Given the description of an element on the screen output the (x, y) to click on. 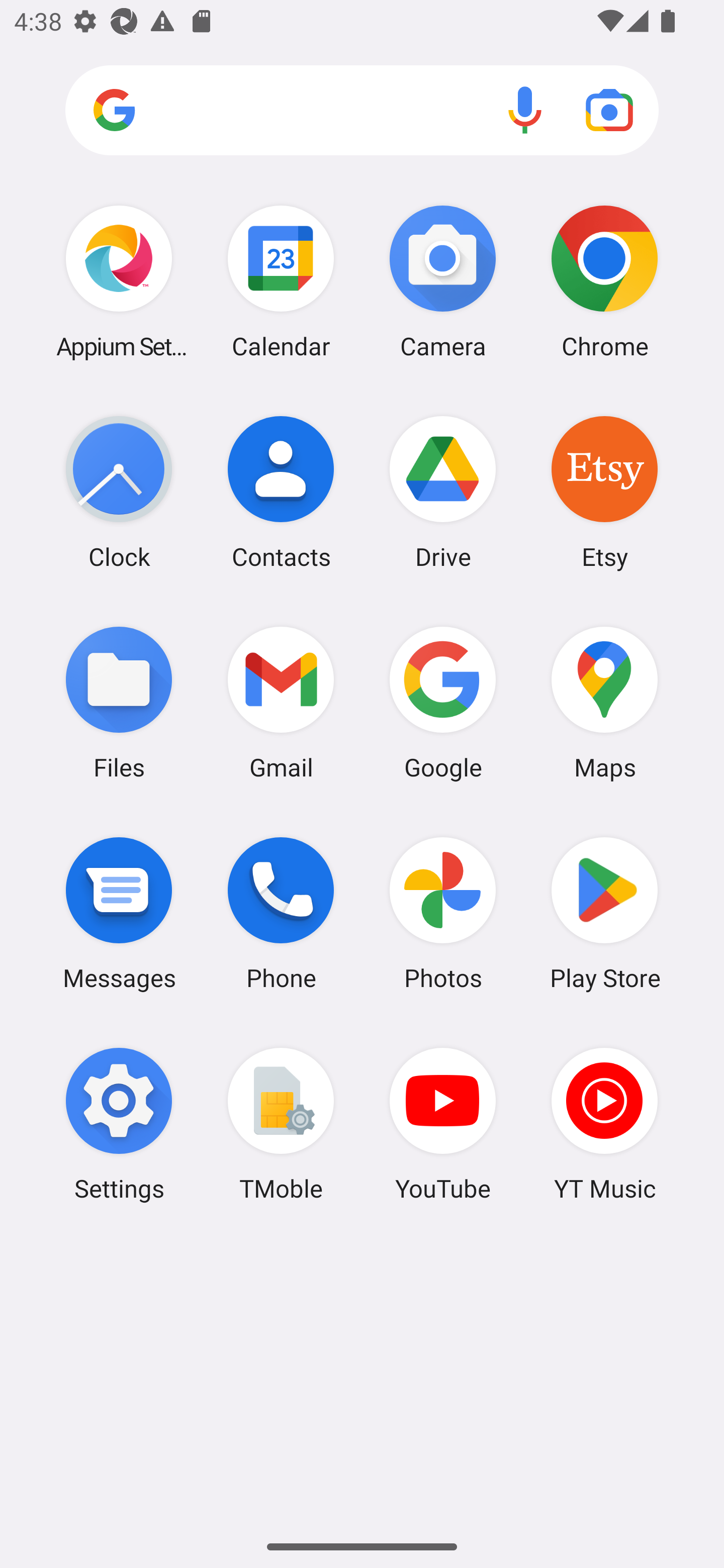
Search apps, web and more (361, 110)
Voice search (524, 109)
Google Lens (608, 109)
Appium Settings (118, 281)
Calendar (280, 281)
Camera (443, 281)
Chrome (604, 281)
Clock (118, 492)
Contacts (280, 492)
Drive (443, 492)
Etsy (604, 492)
Files (118, 702)
Gmail (280, 702)
Google (443, 702)
Maps (604, 702)
Messages (118, 913)
Phone (280, 913)
Photos (443, 913)
Play Store (604, 913)
Settings (118, 1124)
TMoble (280, 1124)
YouTube (443, 1124)
YT Music (604, 1124)
